Given the description of an element on the screen output the (x, y) to click on. 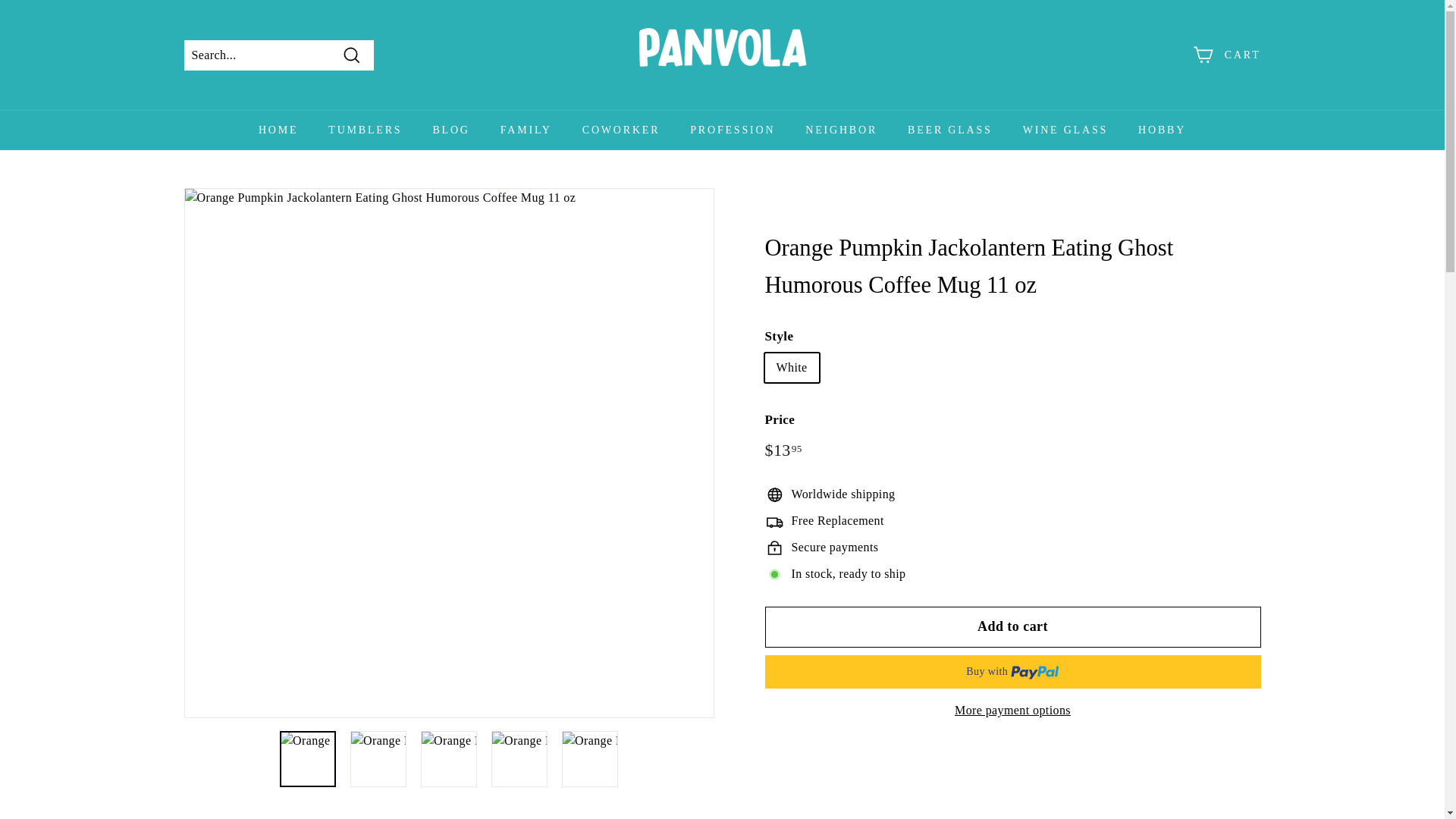
TUMBLERS (364, 129)
HOME (278, 129)
NEIGHBOR (841, 129)
FAMILY (525, 129)
BLOG (450, 129)
WINE GLASS (1064, 129)
COWORKER (621, 129)
BEER GLASS (949, 129)
PROFESSION (732, 129)
HOBBY (1161, 129)
